Given the description of an element on the screen output the (x, y) to click on. 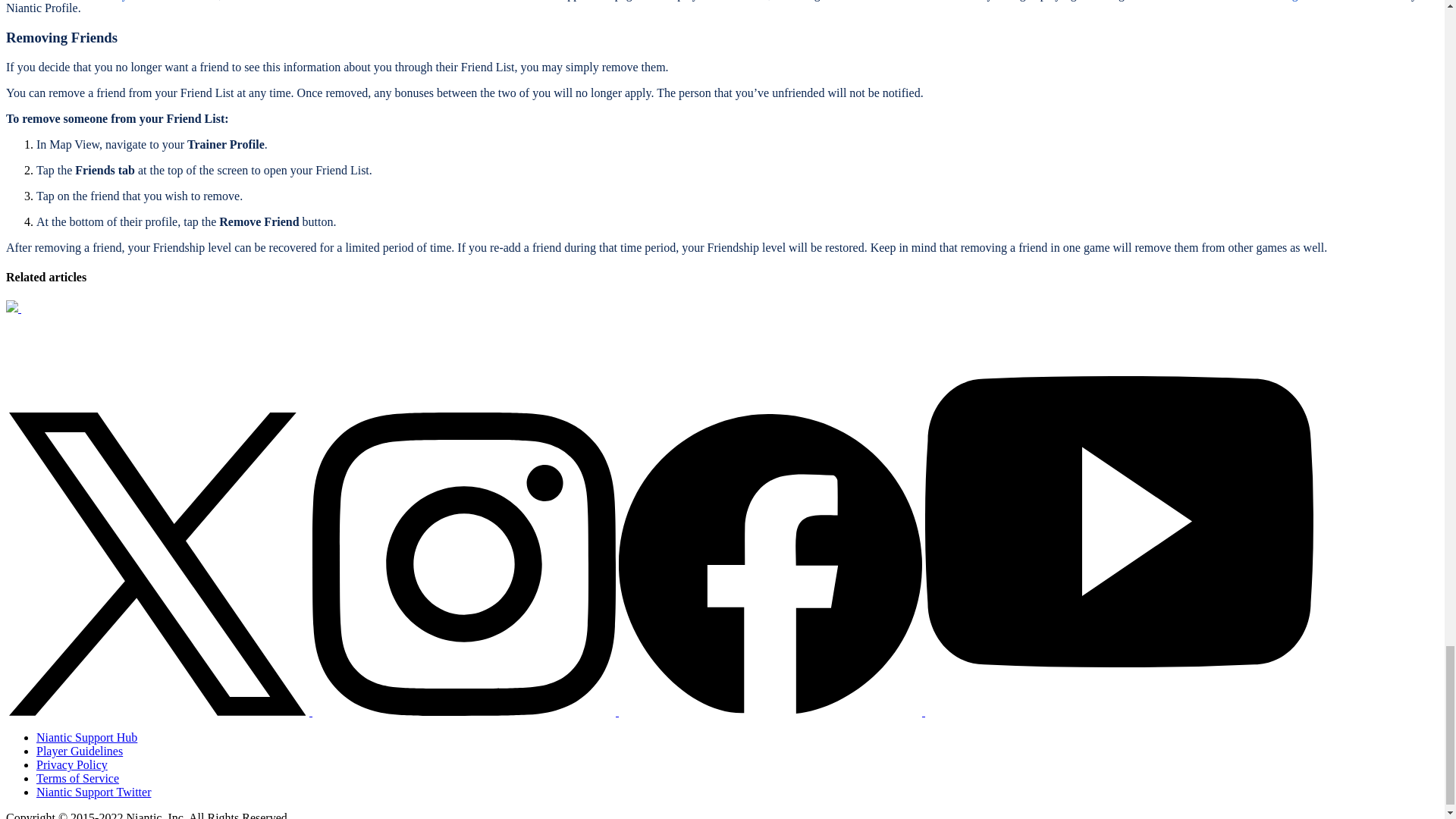
Niantic Support Hub (86, 737)
Privacy Policy (71, 764)
Logo Facebook (771, 711)
Niantic Support Twitter (93, 791)
Logo Youtube (1118, 711)
Player Guidelines (79, 750)
Logo Facebook (769, 563)
Terms of Service (77, 778)
Logo Instagram (464, 563)
Logo Instagram (465, 711)
